Given the description of an element on the screen output the (x, y) to click on. 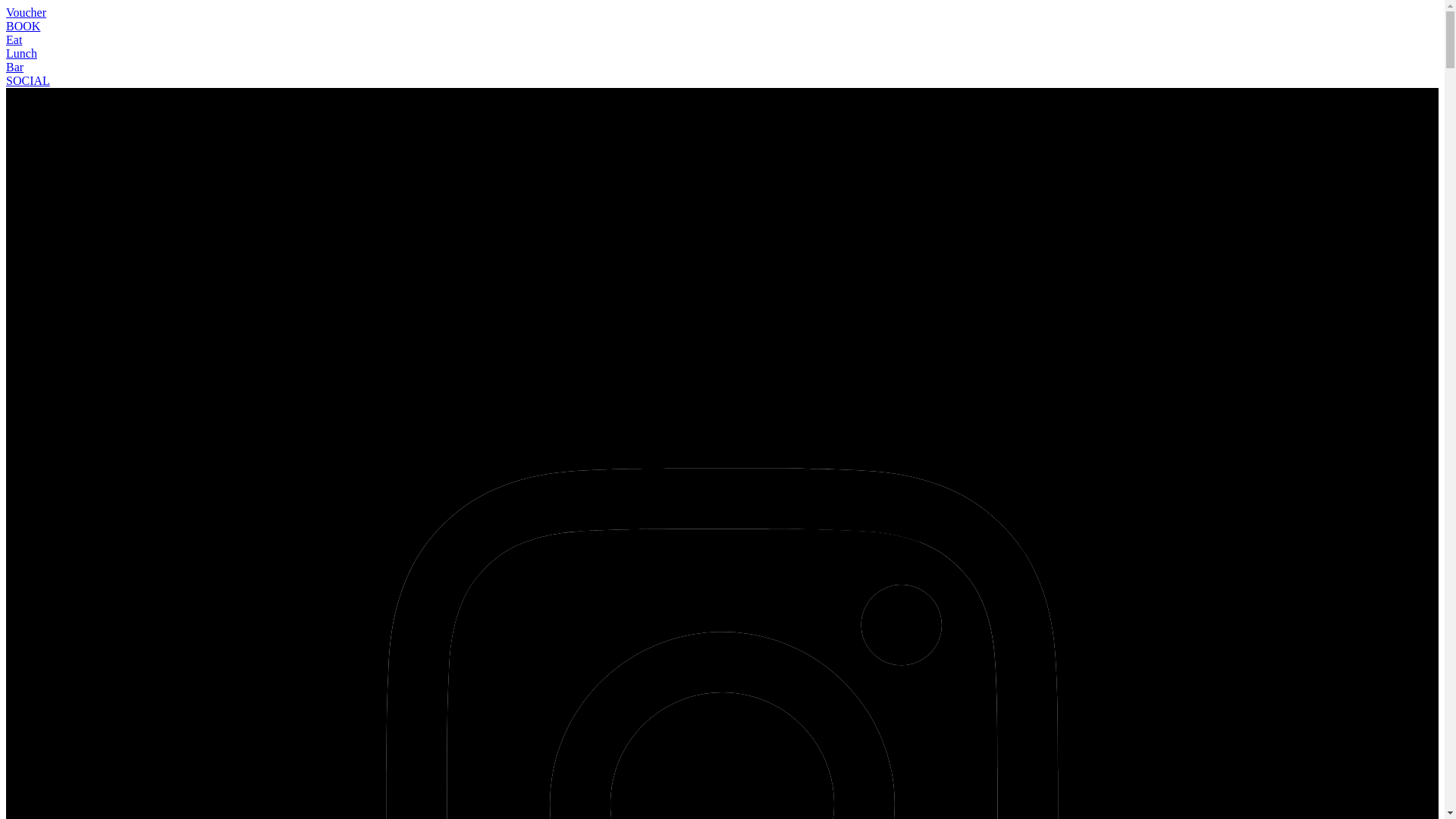
Eat Element type: text (13, 39)
Lunch Element type: text (21, 53)
SOCIAL Element type: text (28, 80)
Voucher Element type: text (26, 12)
BOOK Element type: text (23, 25)
Bar Element type: text (14, 66)
